Given the description of an element on the screen output the (x, y) to click on. 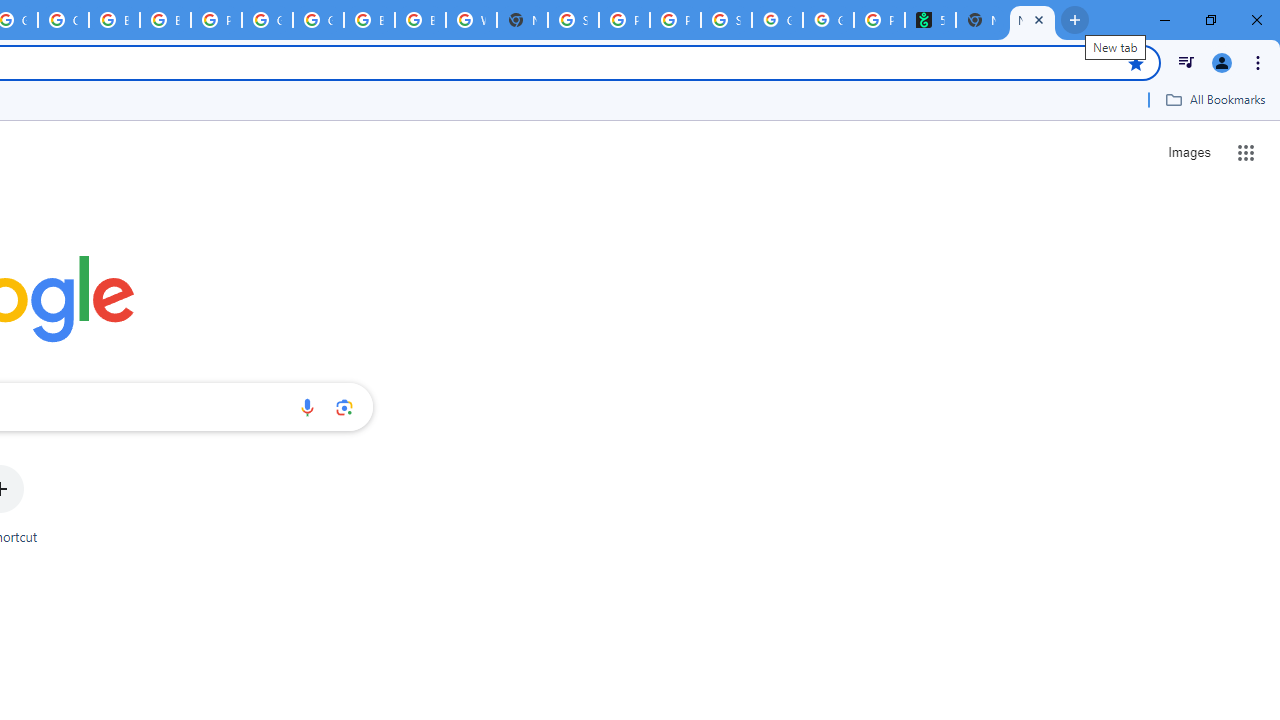
New Tab (1032, 20)
Browse Chrome as a guest - Computer - Google Chrome Help (369, 20)
